Given the description of an element on the screen output the (x, y) to click on. 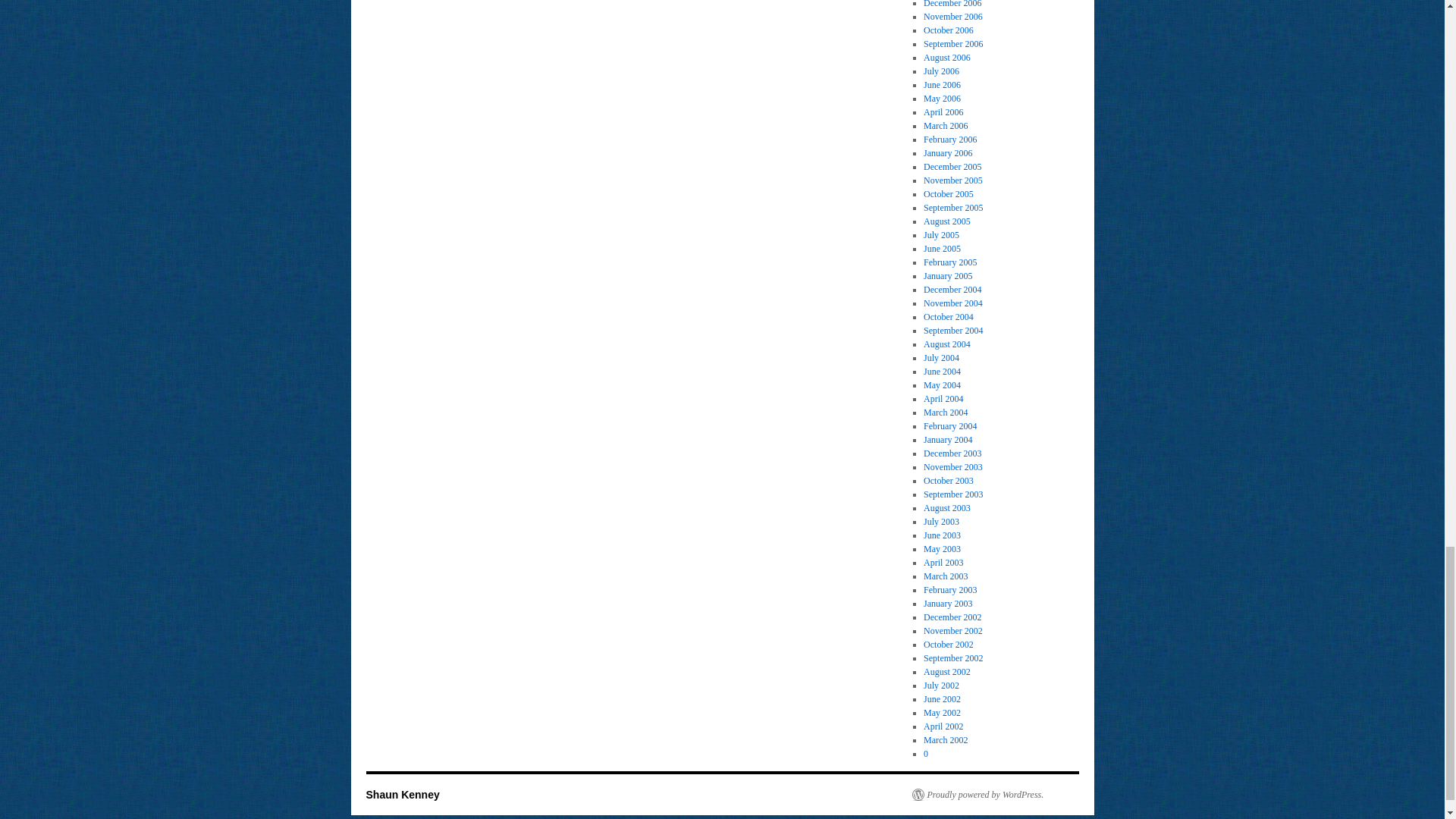
Semantic Personal Publishing Platform (977, 794)
